Given the description of an element on the screen output the (x, y) to click on. 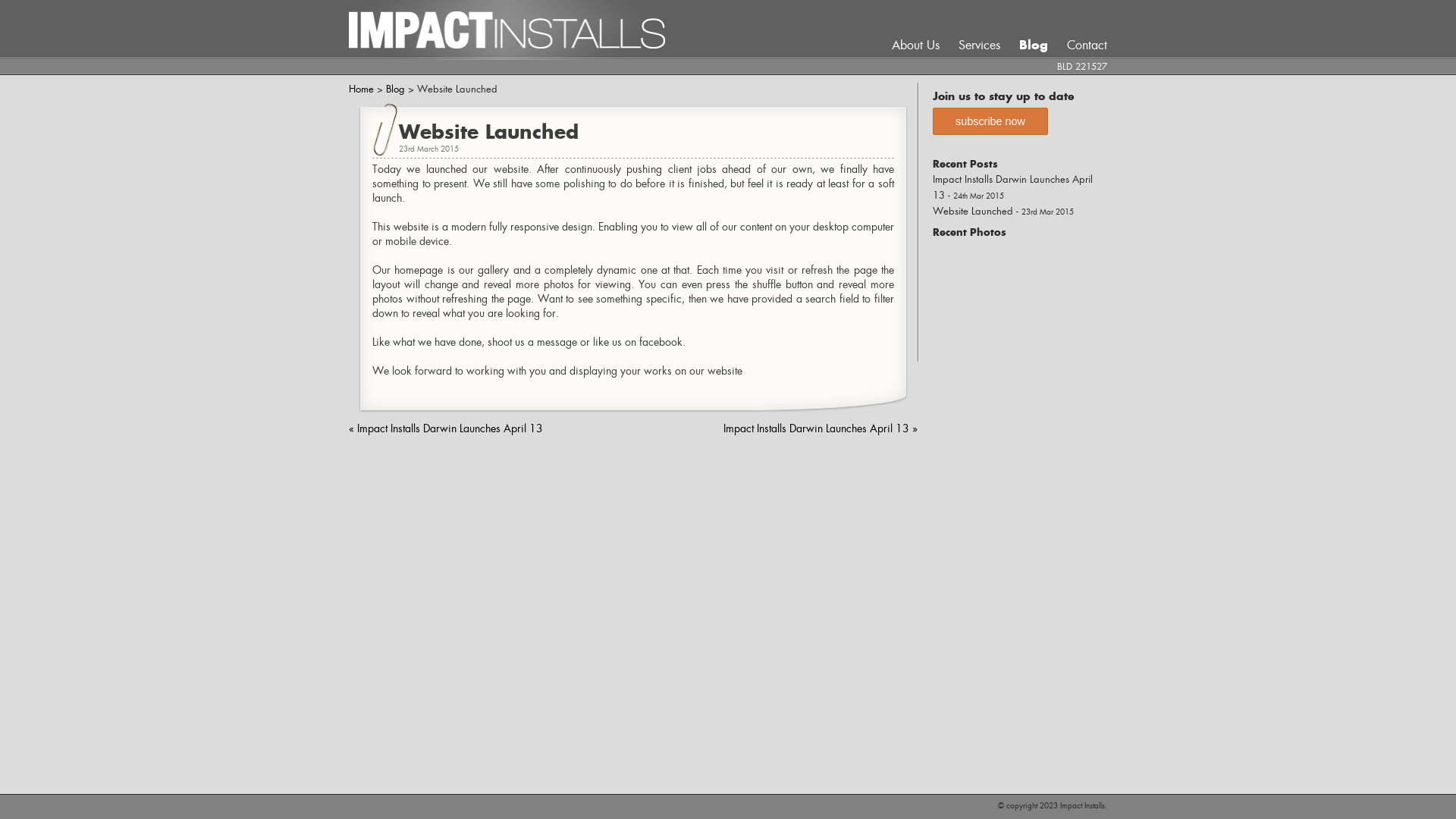
Contact Element type: text (1079, 45)
Home Element type: text (360, 88)
Website Launched - 23rd Mar 2015 Element type: text (1002, 210)
Blog Element type: text (1026, 44)
Impact Installs Darwin Launches April 13 - 24th Mar 2015 Element type: text (1012, 186)
subscribe now Element type: text (990, 120)
About Us Element type: text (915, 45)
Services Element type: text (971, 45)
Blog Element type: text (394, 88)
